Given the description of an element on the screen output the (x, y) to click on. 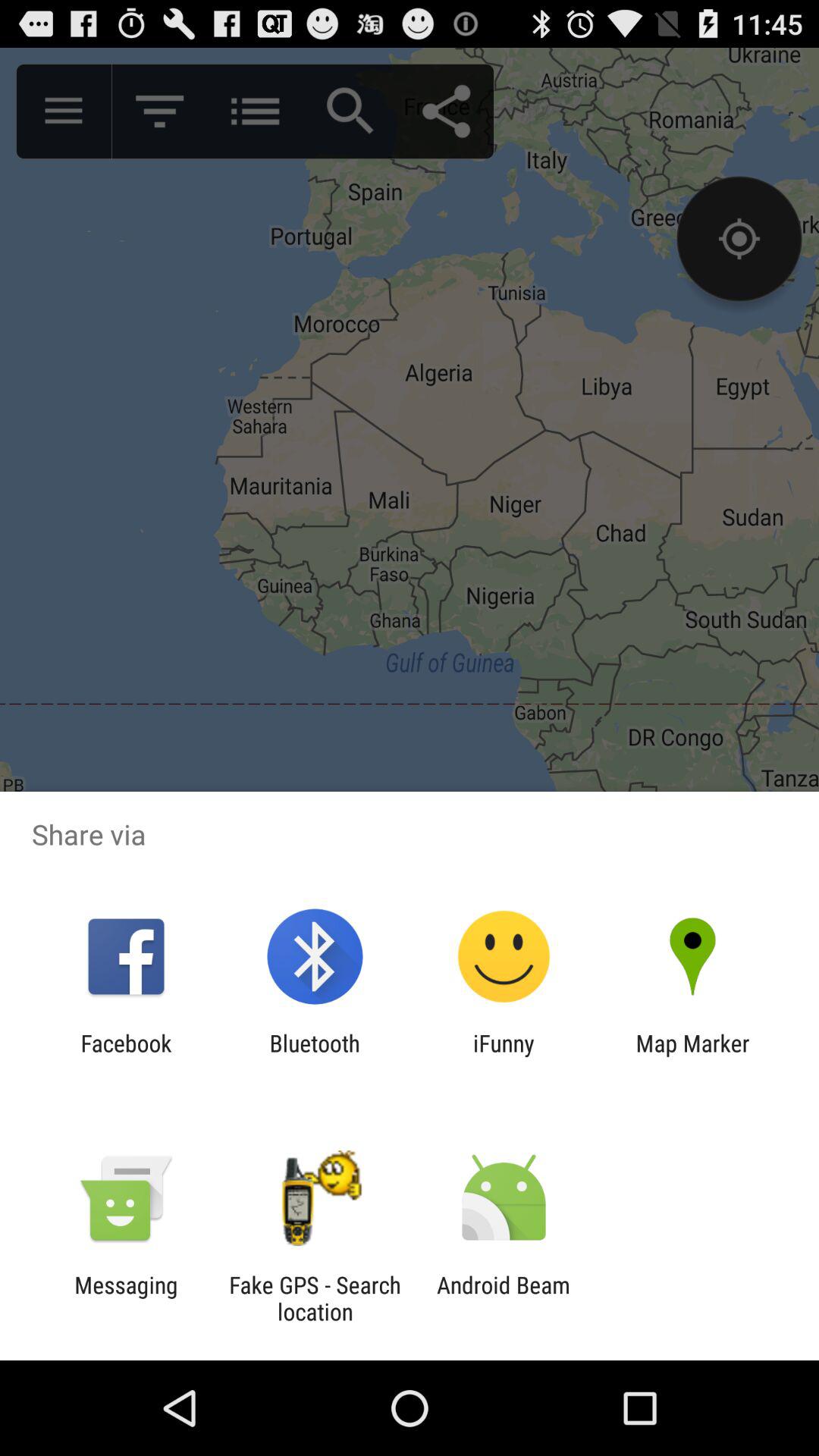
swipe to the bluetooth app (314, 1056)
